Given the description of an element on the screen output the (x, y) to click on. 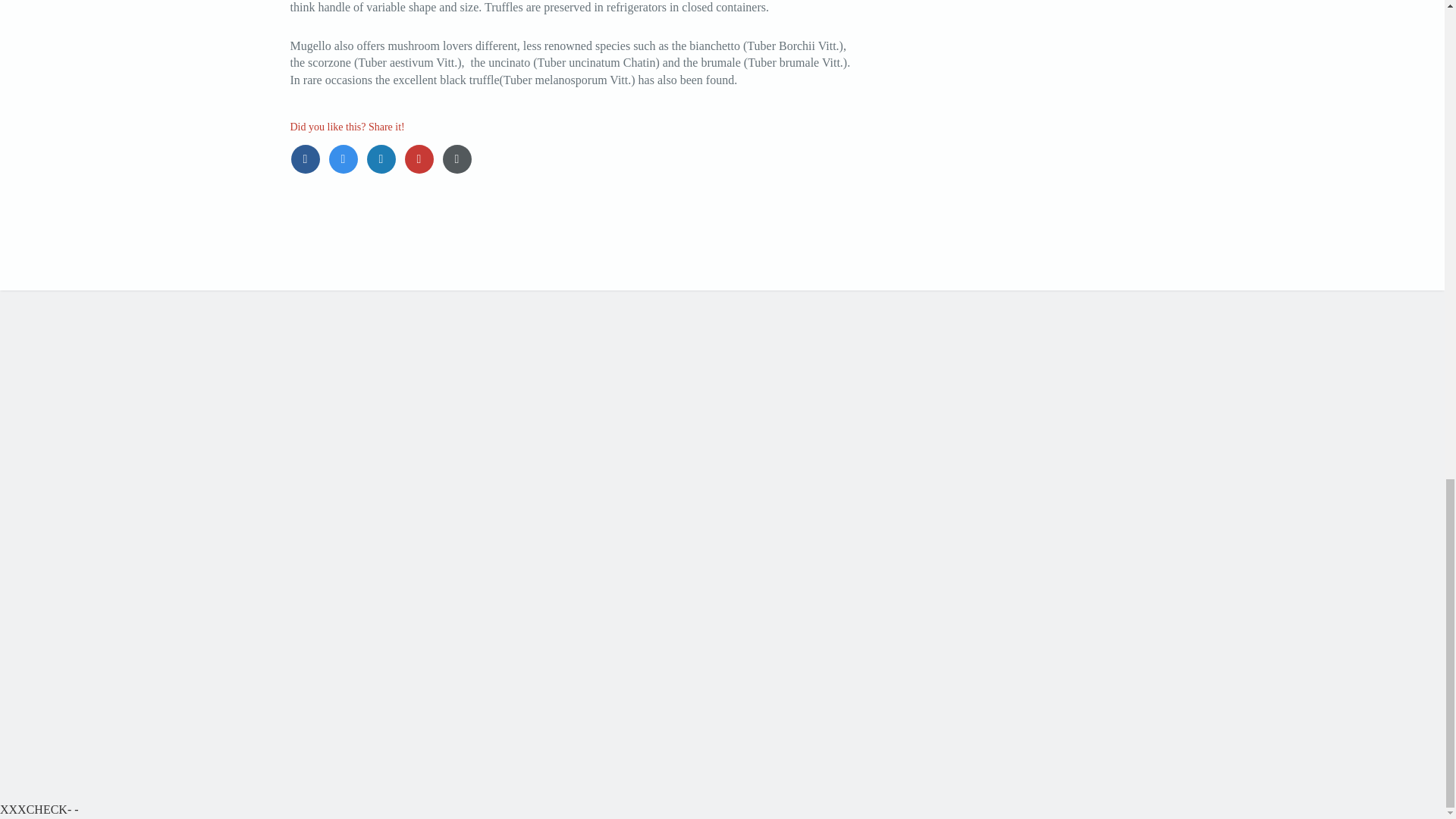
Twitter (346, 158)
Email (458, 158)
Google (422, 158)
Facebook (308, 158)
Linkedin (384, 158)
